Given the description of an element on the screen output the (x, y) to click on. 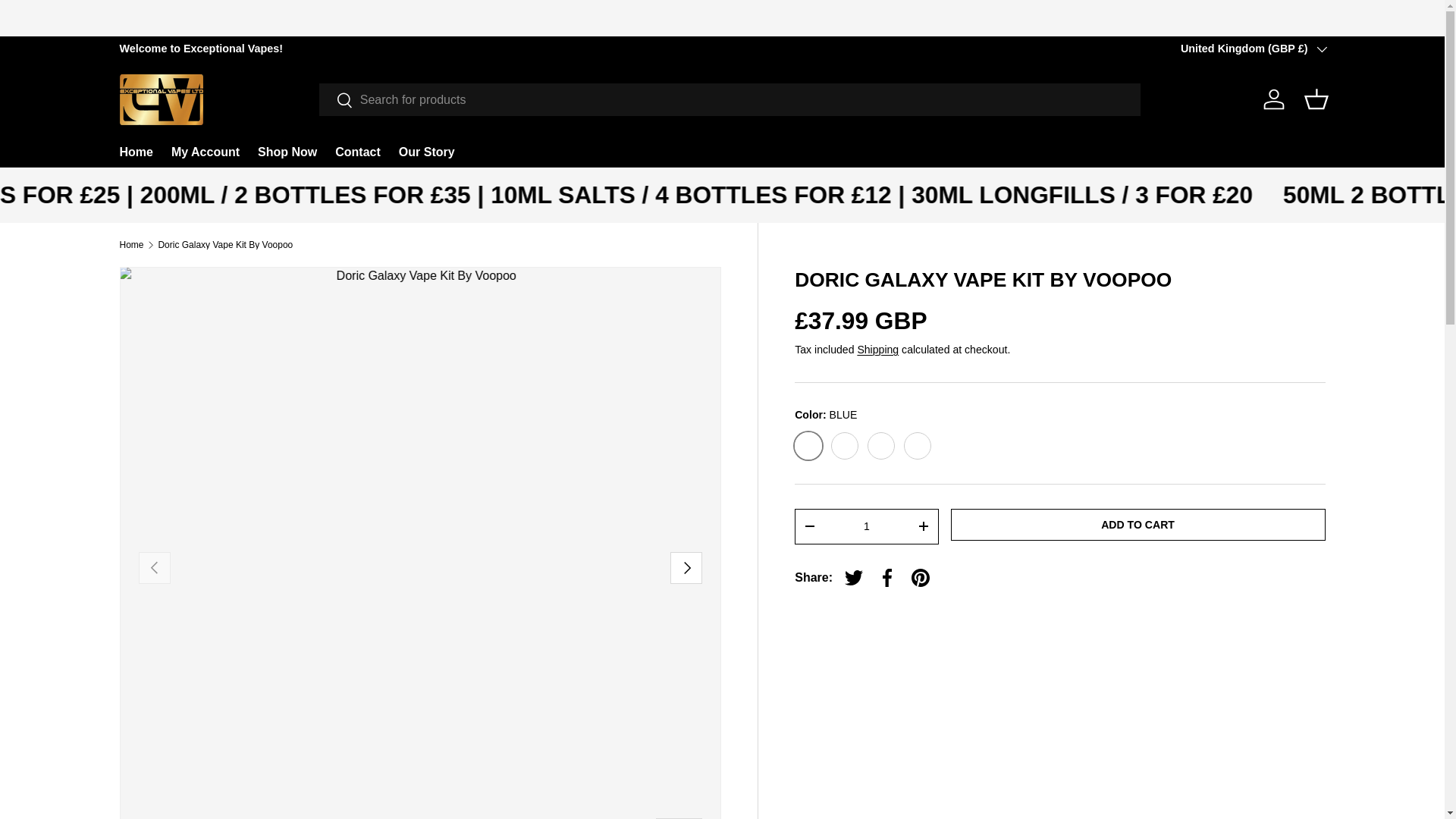
Home (131, 244)
Pin on Pinterest (920, 577)
ADD TO CART (1137, 523)
PREVIOUS (154, 567)
- (809, 525)
Shop Now (287, 152)
Contact (357, 152)
Log in (1273, 99)
SKIP TO CONTENT (68, 21)
